Given the description of an element on the screen output the (x, y) to click on. 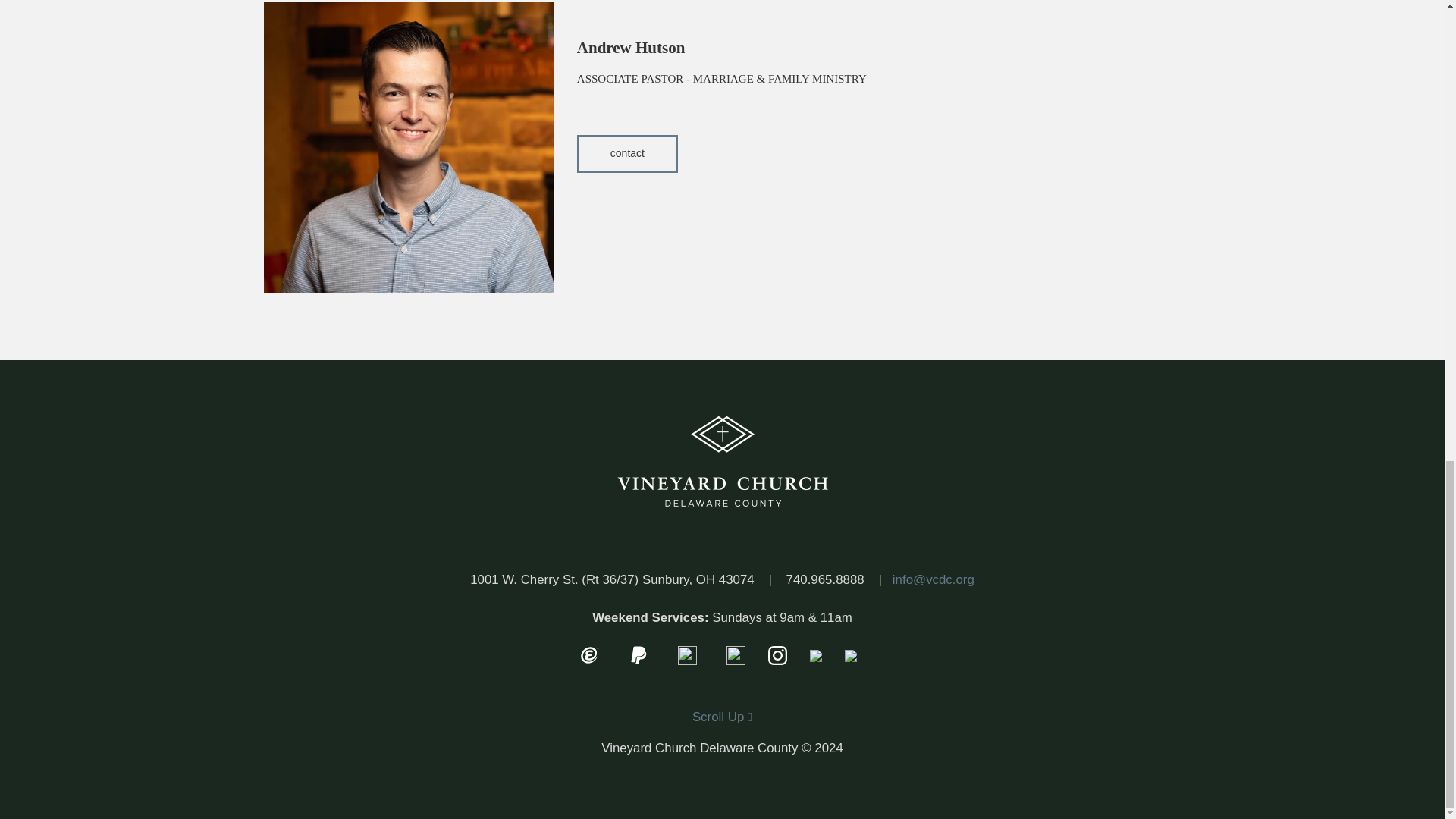
YouTube (814, 654)
Instagram (777, 654)
PayPal (638, 654)
e360 Giving (589, 654)
VCDC Home (721, 461)
Facebook (735, 654)
Sermon Podcast (686, 654)
Scroll Up (721, 716)
ChurchCenter (849, 654)
